Given the description of an element on the screen output the (x, y) to click on. 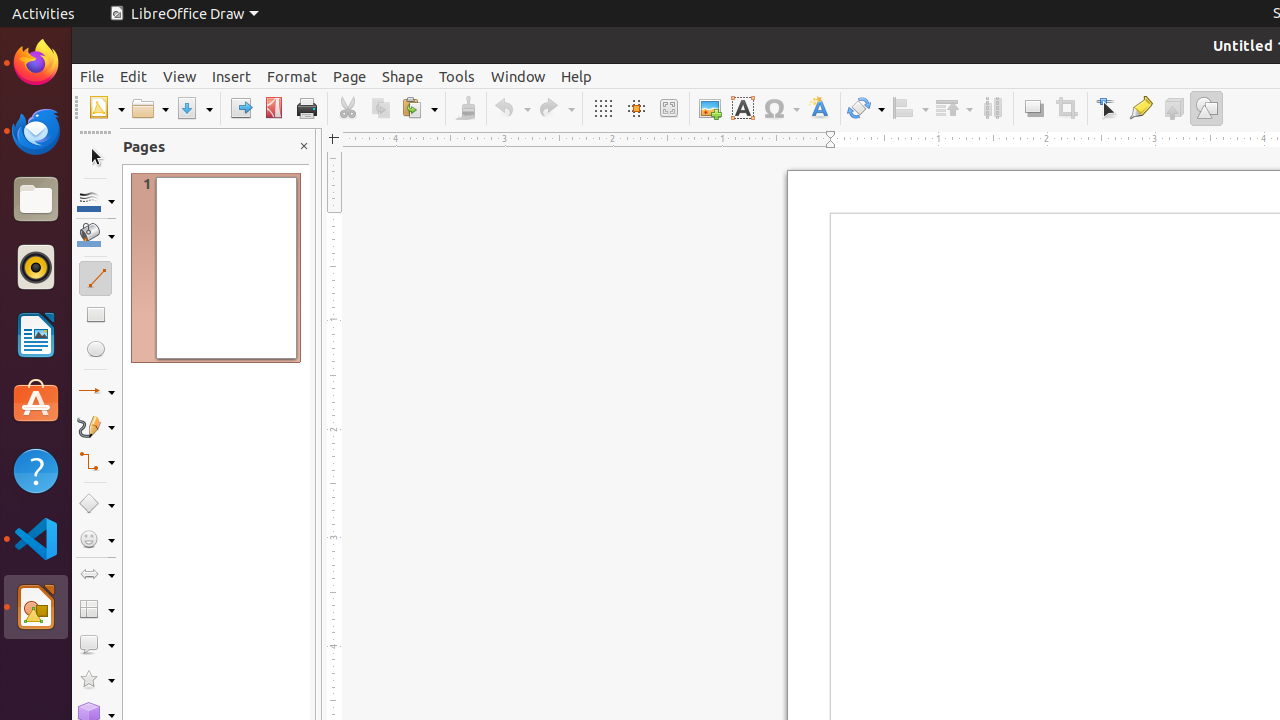
Cut Element type: push-button (347, 108)
Line Color Element type: push-button (96, 200)
Image Element type: push-button (709, 108)
Insert Element type: menu (231, 76)
